Given the description of an element on the screen output the (x, y) to click on. 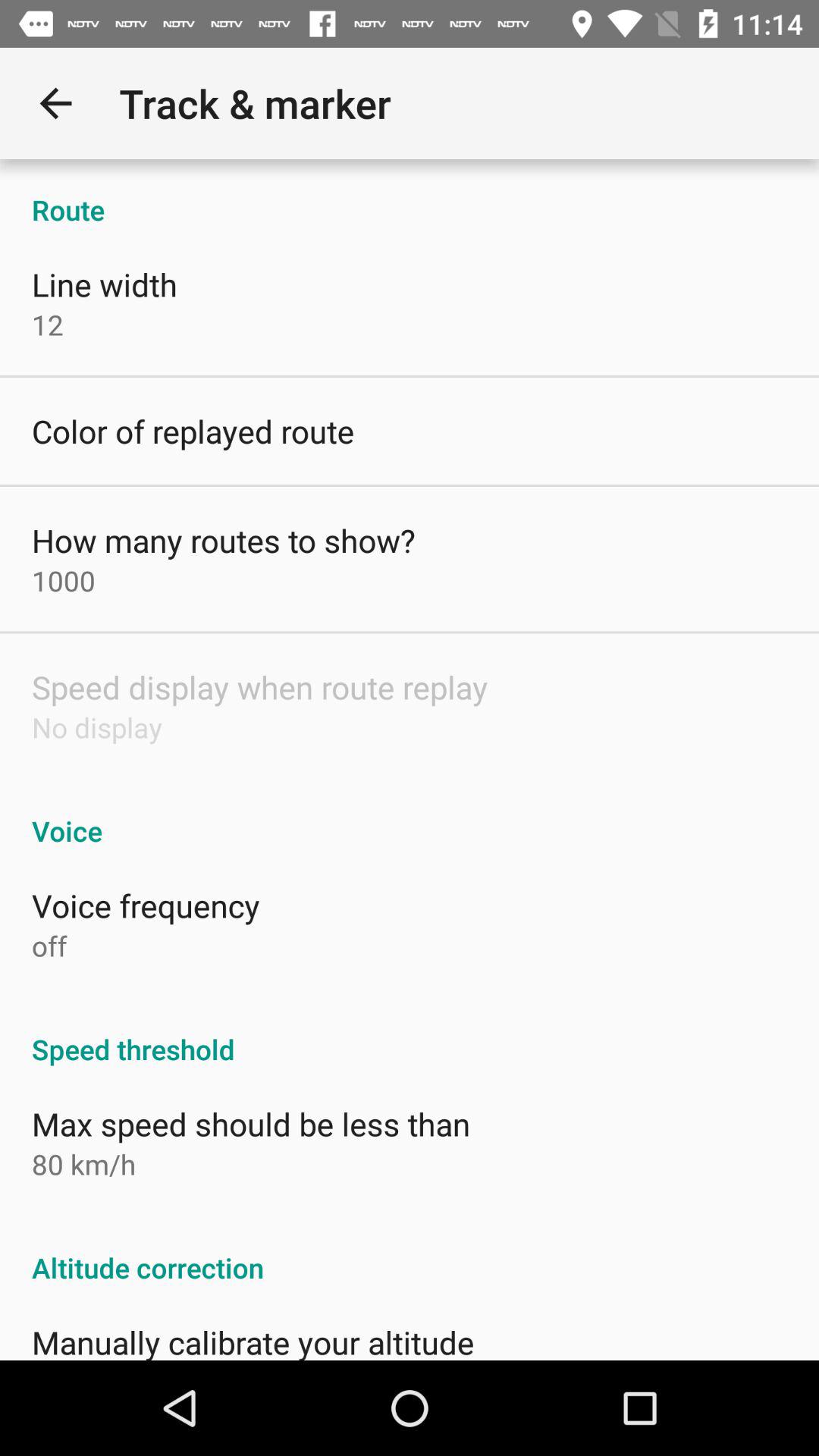
choose the 1000 item (63, 580)
